Given the description of an element on the screen output the (x, y) to click on. 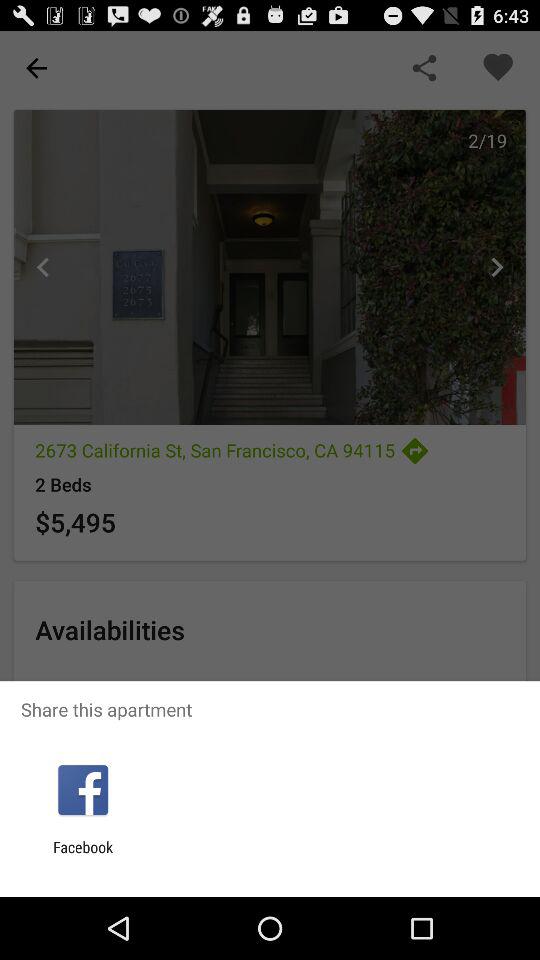
choose the facebook item (83, 856)
